Given the description of an element on the screen output the (x, y) to click on. 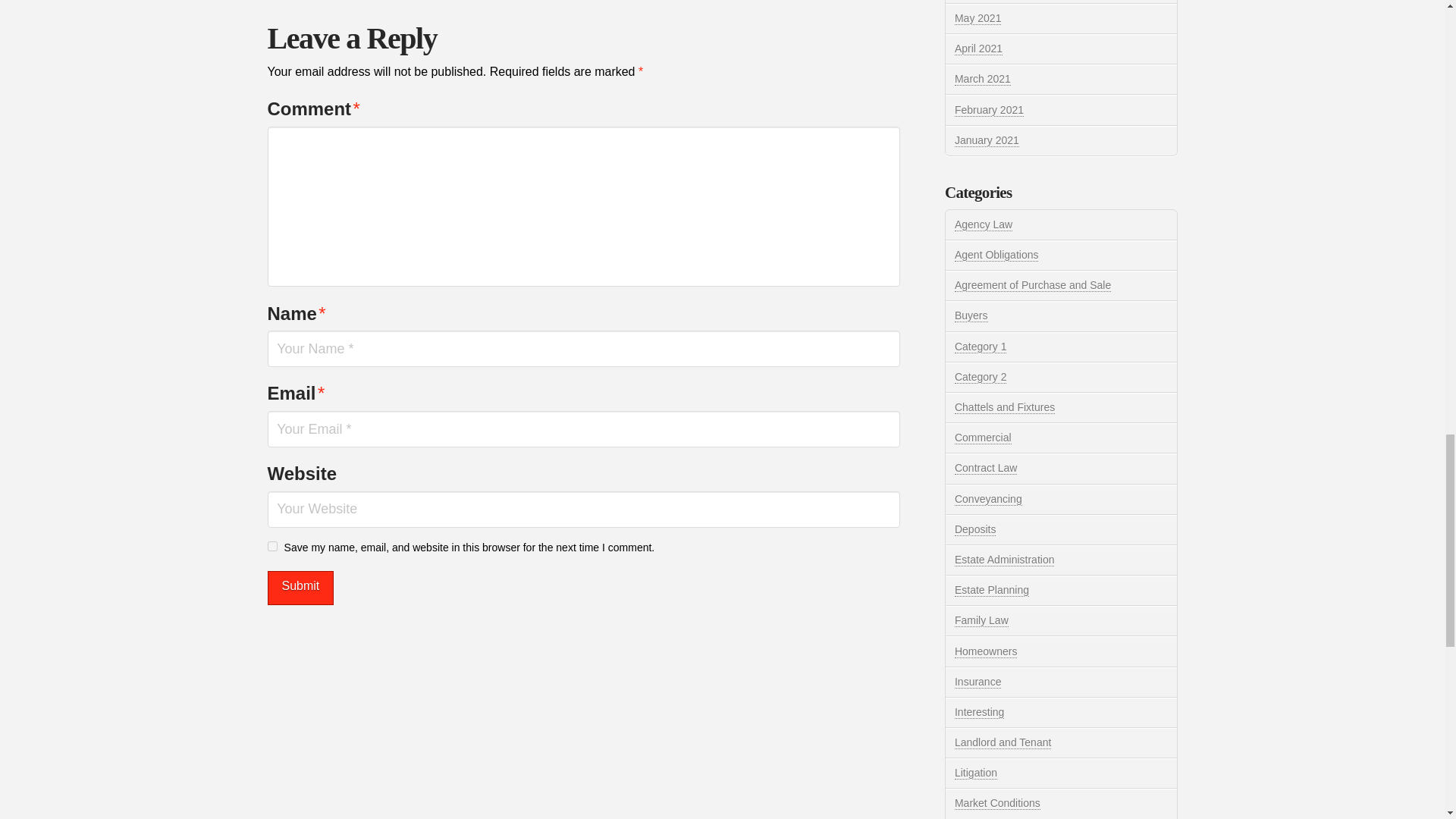
Submit (299, 587)
yes (271, 546)
